Given the description of an element on the screen output the (x, y) to click on. 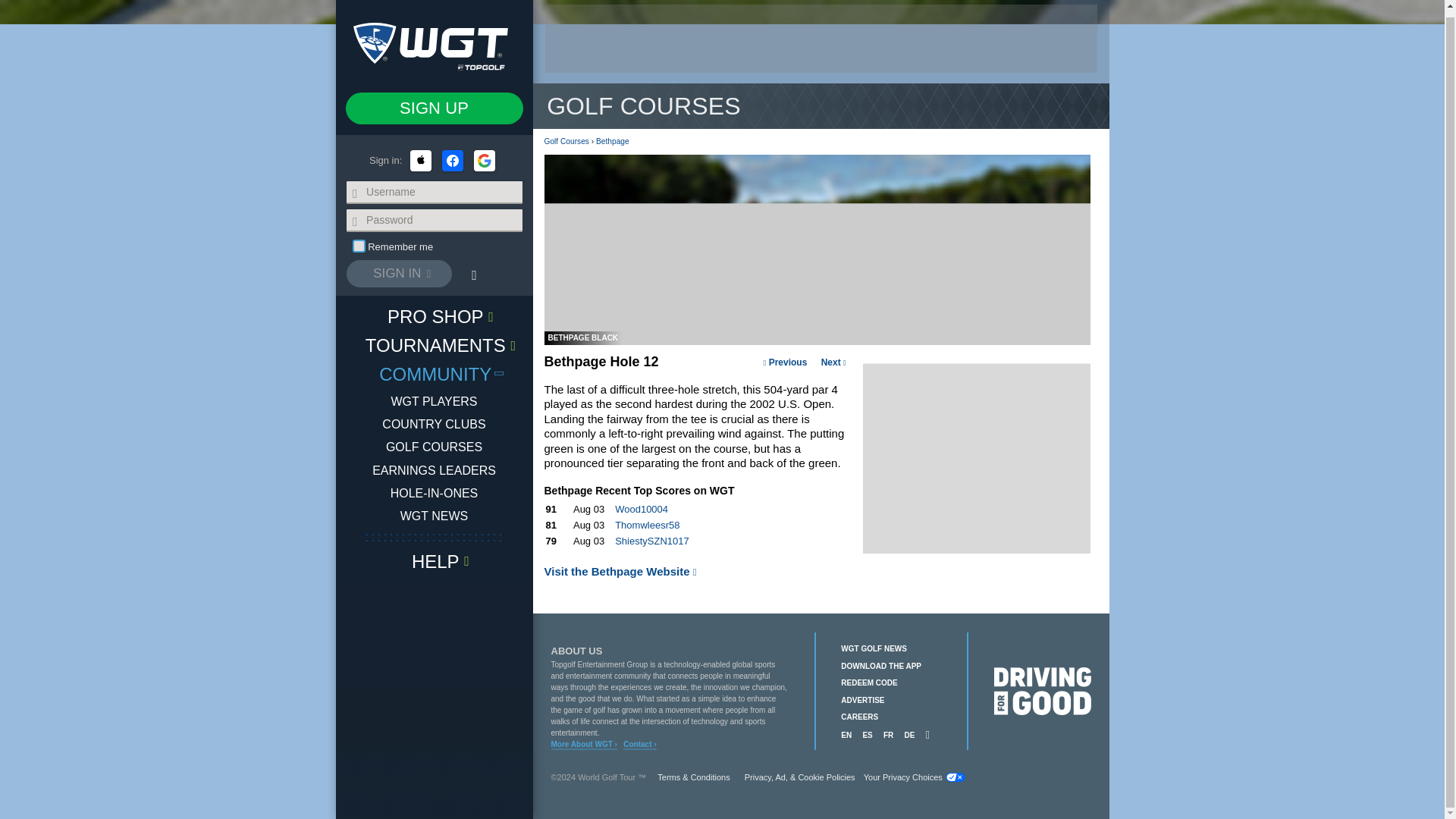
GOLF COURSES (433, 440)
COMMUNITY (433, 367)
scores in the past month (694, 490)
COUNTRY CLUBS (432, 418)
PRO SHOP (433, 309)
Home (434, 41)
EARNINGS LEADERS (434, 464)
TOURNAMENTS (433, 338)
HELP (433, 554)
SIGN IN (398, 267)
Sign in with Google (484, 154)
WGT PLAYERS (433, 395)
WGT NEWS (433, 509)
11th hole (784, 362)
Sign in with Facebook (452, 154)
